Given the description of an element on the screen output the (x, y) to click on. 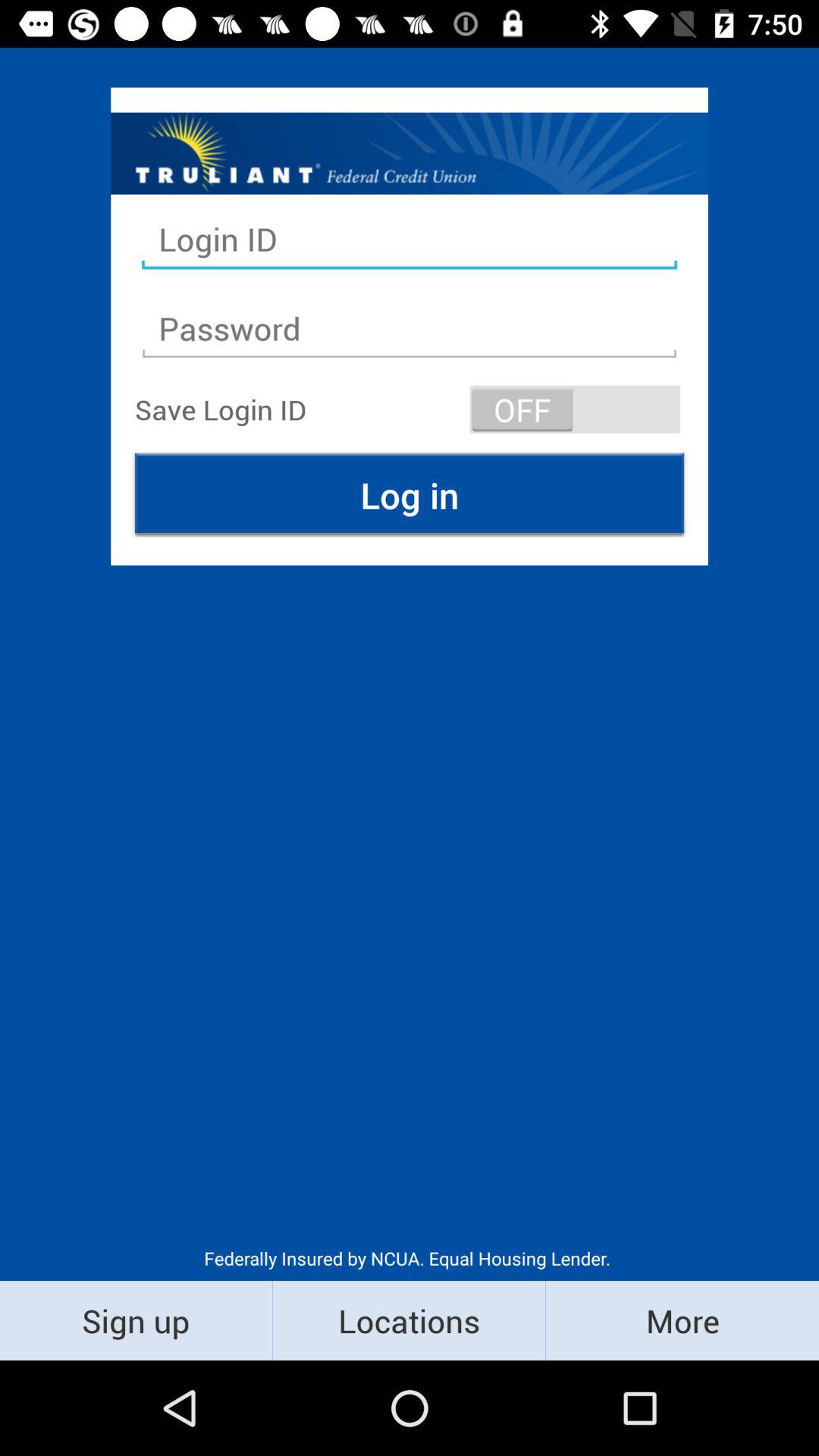
launch item to the right of the sign up (409, 1320)
